Given the description of an element on the screen output the (x, y) to click on. 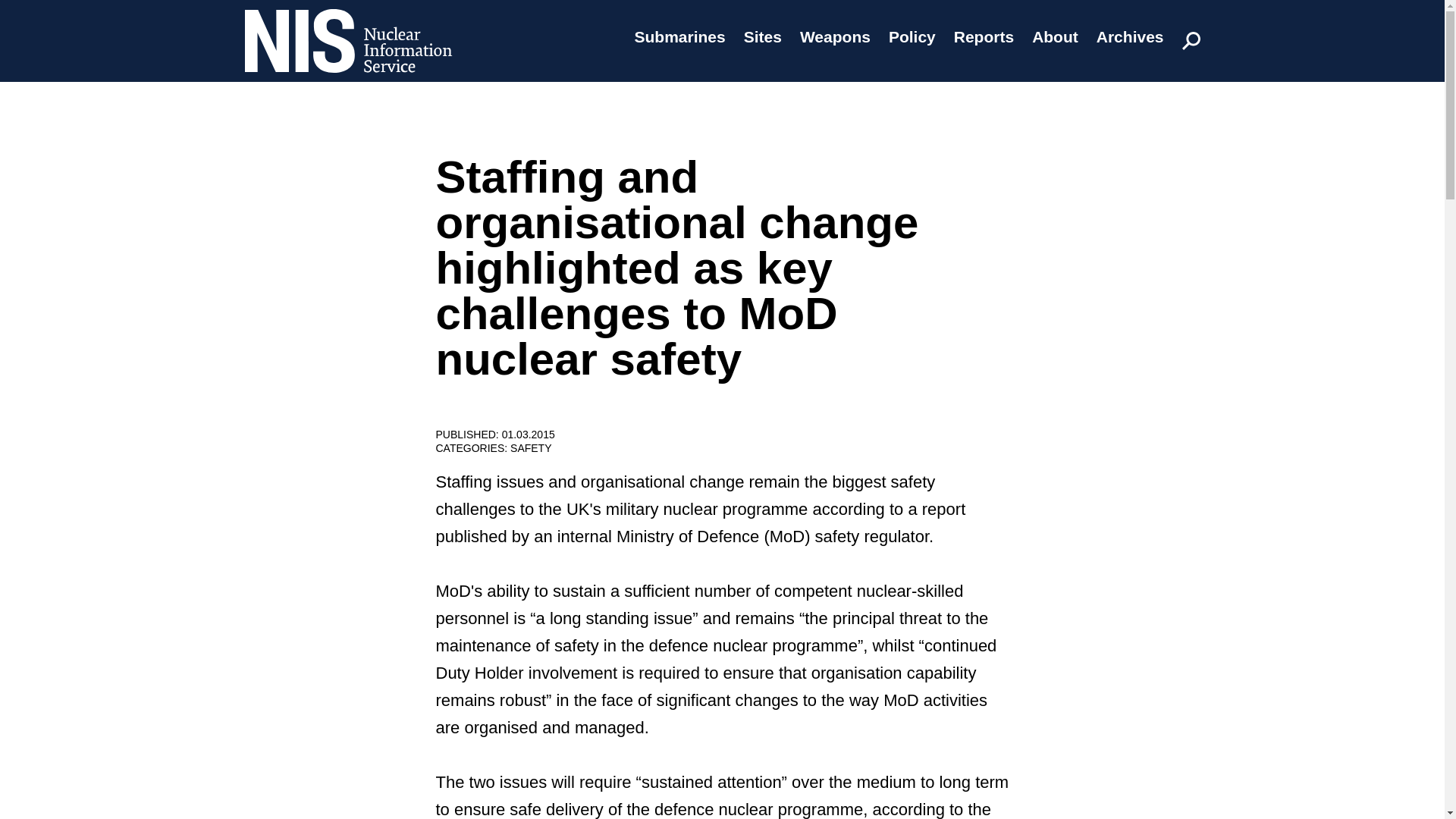
Reports (983, 36)
Weapons (834, 36)
Nuclear Information Service (346, 81)
Submarines (679, 36)
Sites (762, 36)
Policy (912, 36)
About (1055, 36)
